Given the description of an element on the screen output the (x, y) to click on. 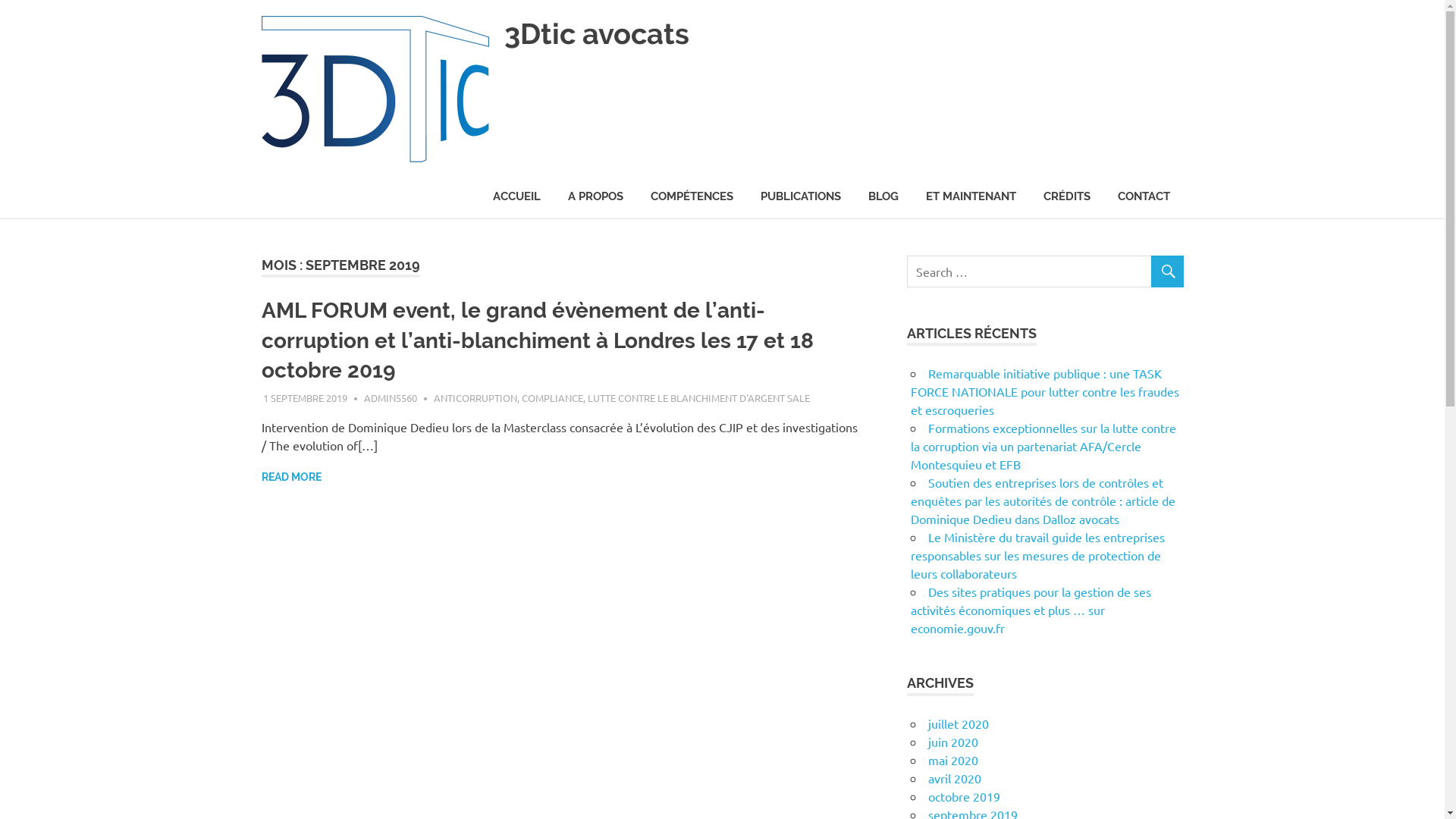
PUBLICATIONS Element type: text (799, 196)
juin 2020 Element type: text (953, 741)
Search for: Element type: hover (1044, 271)
CONTACT Element type: text (1143, 196)
Skip to content Element type: text (0, 0)
ADMIN5560 Element type: text (390, 397)
ET MAINTENANT Element type: text (970, 196)
COMPLIANCE Element type: text (552, 397)
1 SEPTEMBRE 2019 Element type: text (305, 397)
LUTTE CONTRE LE BLANCHIMENT D'ARGENT SALE Element type: text (698, 397)
3Dtic avocats Element type: text (595, 33)
READ MORE Element type: text (290, 477)
A PROPOS Element type: text (594, 196)
ANTICORRUPTION Element type: text (475, 397)
avril 2020 Element type: text (954, 777)
octobre 2019 Element type: text (964, 795)
ACCUEIL Element type: text (516, 196)
mai 2020 Element type: text (953, 759)
juillet 2020 Element type: text (958, 723)
BLOG Element type: text (882, 196)
